Given the description of an element on the screen output the (x, y) to click on. 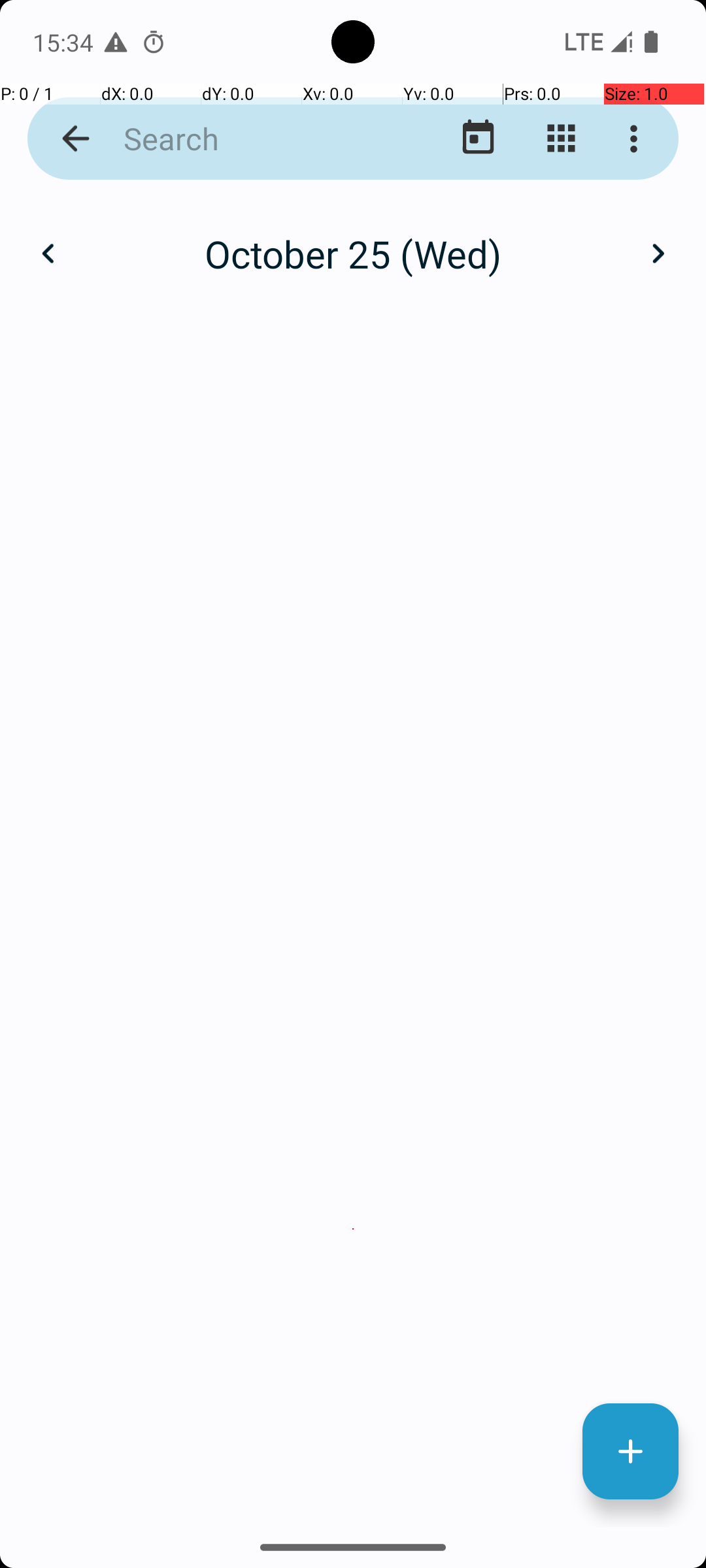
Go to today Element type: android.widget.Button (477, 138)
October 25 (Wed) Element type: android.widget.TextView (352, 253)
